Given the description of an element on the screen output the (x, y) to click on. 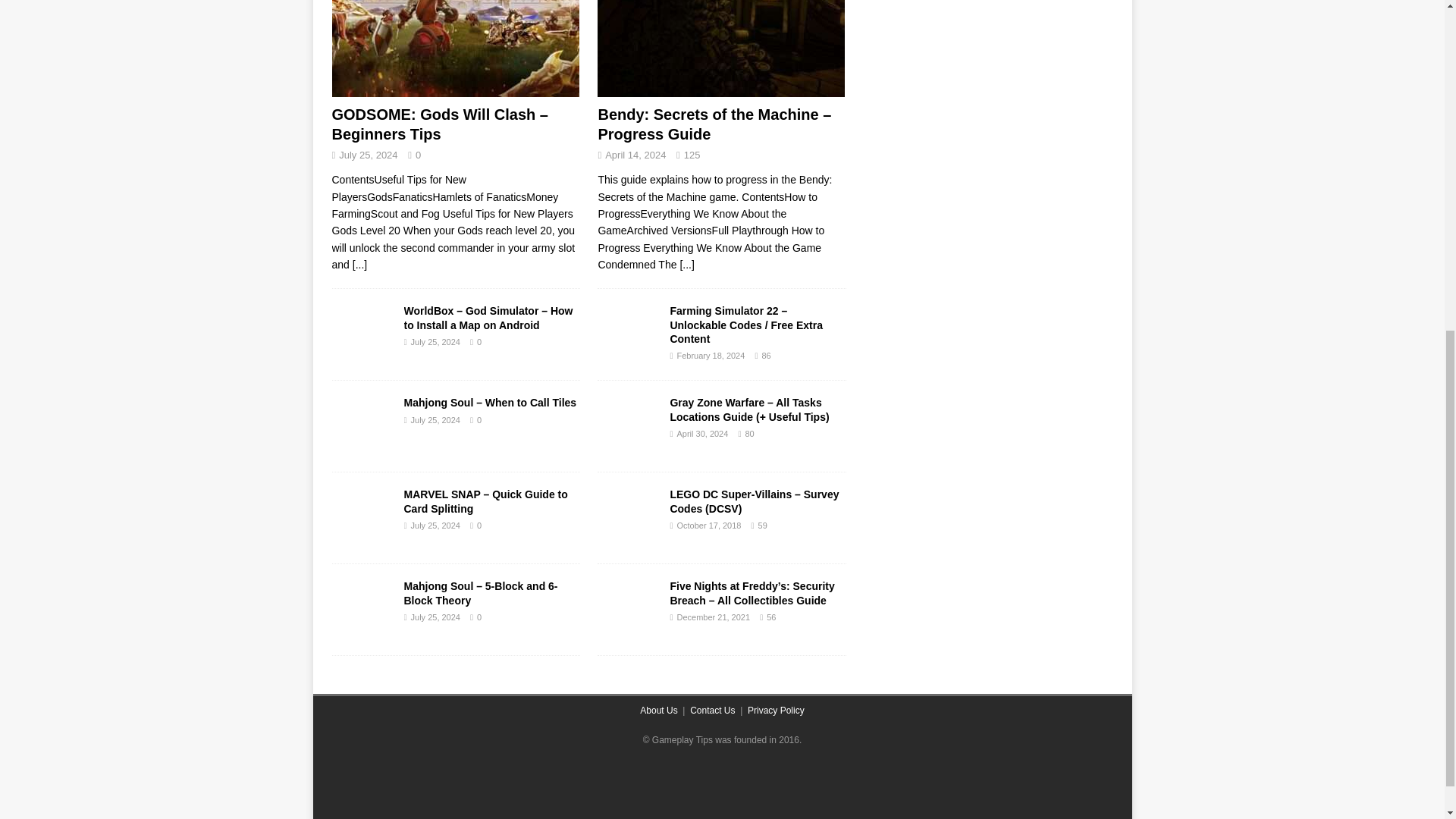
125 (692, 154)
July 25, 2024 (435, 524)
July 25, 2024 (435, 341)
July 25, 2024 (368, 154)
0 (479, 616)
0 (479, 341)
0 (479, 524)
0 (417, 154)
0 (479, 420)
April 14, 2024 (635, 154)
July 25, 2024 (435, 616)
July 25, 2024 (435, 420)
